Given the description of an element on the screen output the (x, y) to click on. 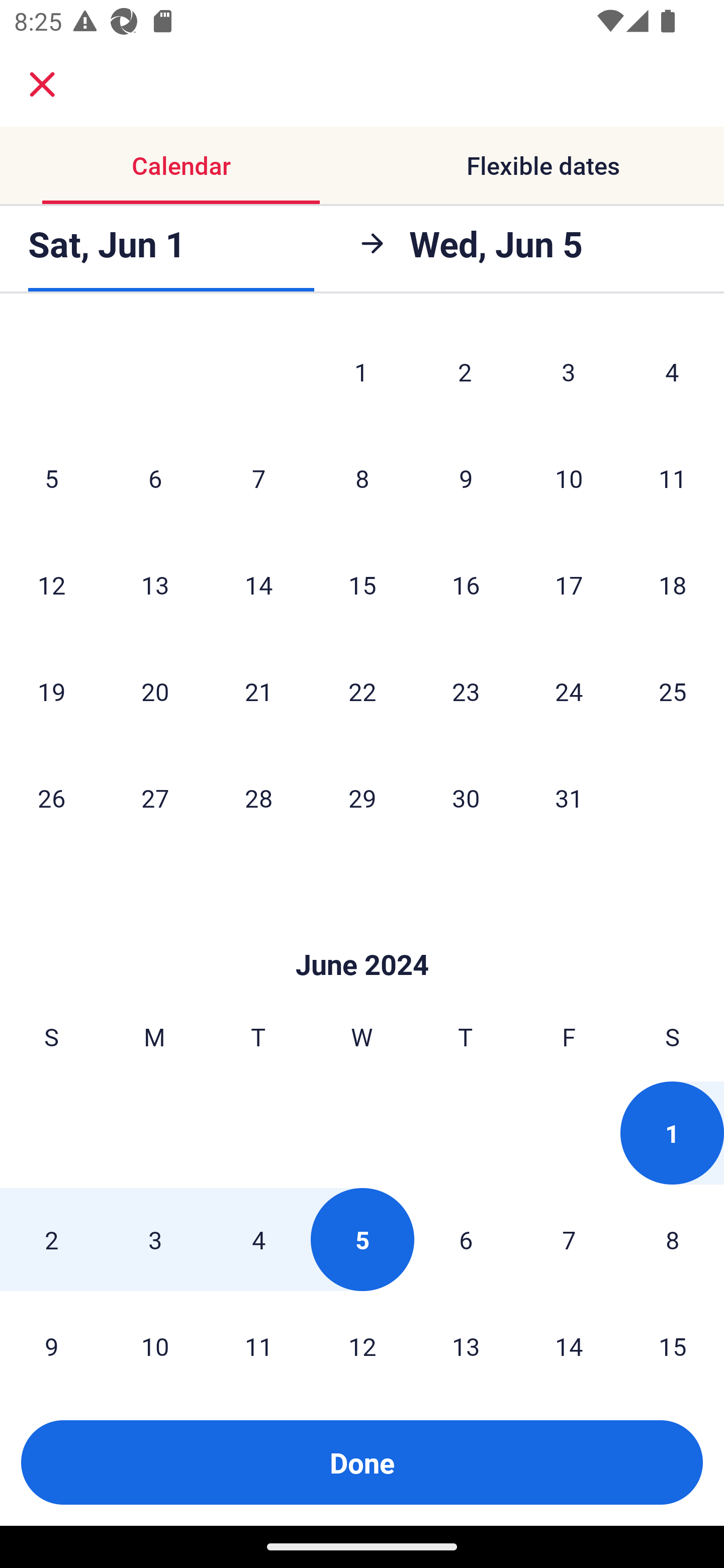
close. (42, 84)
Flexible dates (542, 164)
1 Wednesday, May 1, 2024 (361, 372)
2 Thursday, May 2, 2024 (464, 372)
3 Friday, May 3, 2024 (568, 372)
4 Saturday, May 4, 2024 (672, 372)
5 Sunday, May 5, 2024 (51, 477)
6 Monday, May 6, 2024 (155, 477)
7 Tuesday, May 7, 2024 (258, 477)
8 Wednesday, May 8, 2024 (362, 477)
9 Thursday, May 9, 2024 (465, 477)
10 Friday, May 10, 2024 (569, 477)
11 Saturday, May 11, 2024 (672, 477)
12 Sunday, May 12, 2024 (51, 584)
13 Monday, May 13, 2024 (155, 584)
14 Tuesday, May 14, 2024 (258, 584)
15 Wednesday, May 15, 2024 (362, 584)
16 Thursday, May 16, 2024 (465, 584)
17 Friday, May 17, 2024 (569, 584)
18 Saturday, May 18, 2024 (672, 584)
19 Sunday, May 19, 2024 (51, 691)
20 Monday, May 20, 2024 (155, 691)
21 Tuesday, May 21, 2024 (258, 691)
22 Wednesday, May 22, 2024 (362, 691)
23 Thursday, May 23, 2024 (465, 691)
24 Friday, May 24, 2024 (569, 691)
25 Saturday, May 25, 2024 (672, 691)
26 Sunday, May 26, 2024 (51, 797)
27 Monday, May 27, 2024 (155, 797)
28 Tuesday, May 28, 2024 (258, 797)
29 Wednesday, May 29, 2024 (362, 797)
30 Thursday, May 30, 2024 (465, 797)
31 Friday, May 31, 2024 (569, 797)
Skip to Done (362, 934)
6 Thursday, June 6, 2024 (465, 1239)
7 Friday, June 7, 2024 (569, 1239)
8 Saturday, June 8, 2024 (672, 1239)
9 Sunday, June 9, 2024 (51, 1336)
10 Monday, June 10, 2024 (155, 1336)
11 Tuesday, June 11, 2024 (258, 1336)
12 Wednesday, June 12, 2024 (362, 1336)
13 Thursday, June 13, 2024 (465, 1336)
14 Friday, June 14, 2024 (569, 1336)
15 Saturday, June 15, 2024 (672, 1336)
Done (361, 1462)
